Given the description of an element on the screen output the (x, y) to click on. 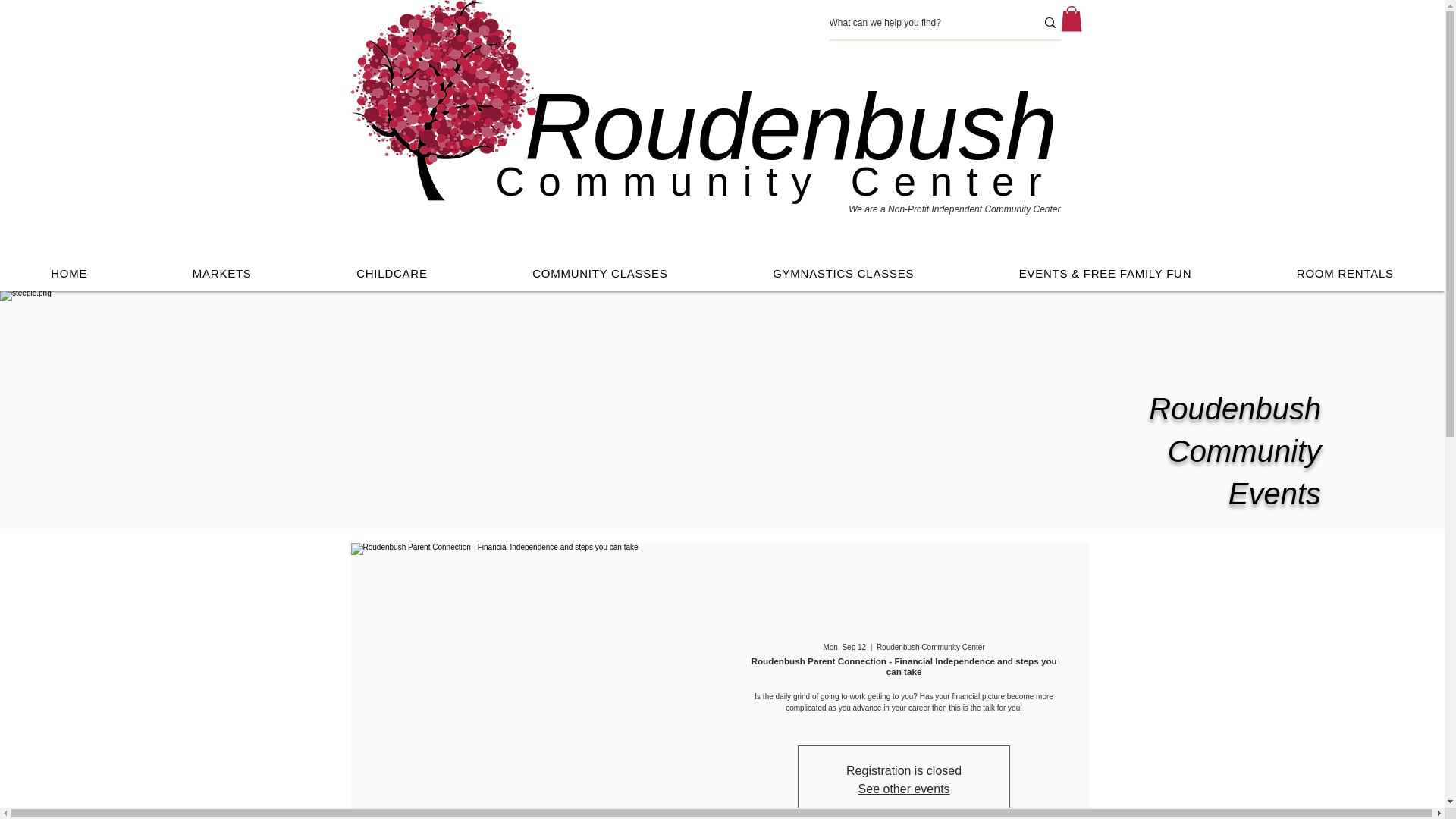
CHILDCARE (392, 273)
HOME (69, 273)
MARKETS (221, 273)
See other events (904, 788)
COMMUNITY CLASSES (600, 273)
ROOM RENTALS (1345, 273)
GYMNASTICS CLASSES (843, 273)
